Given the description of an element on the screen output the (x, y) to click on. 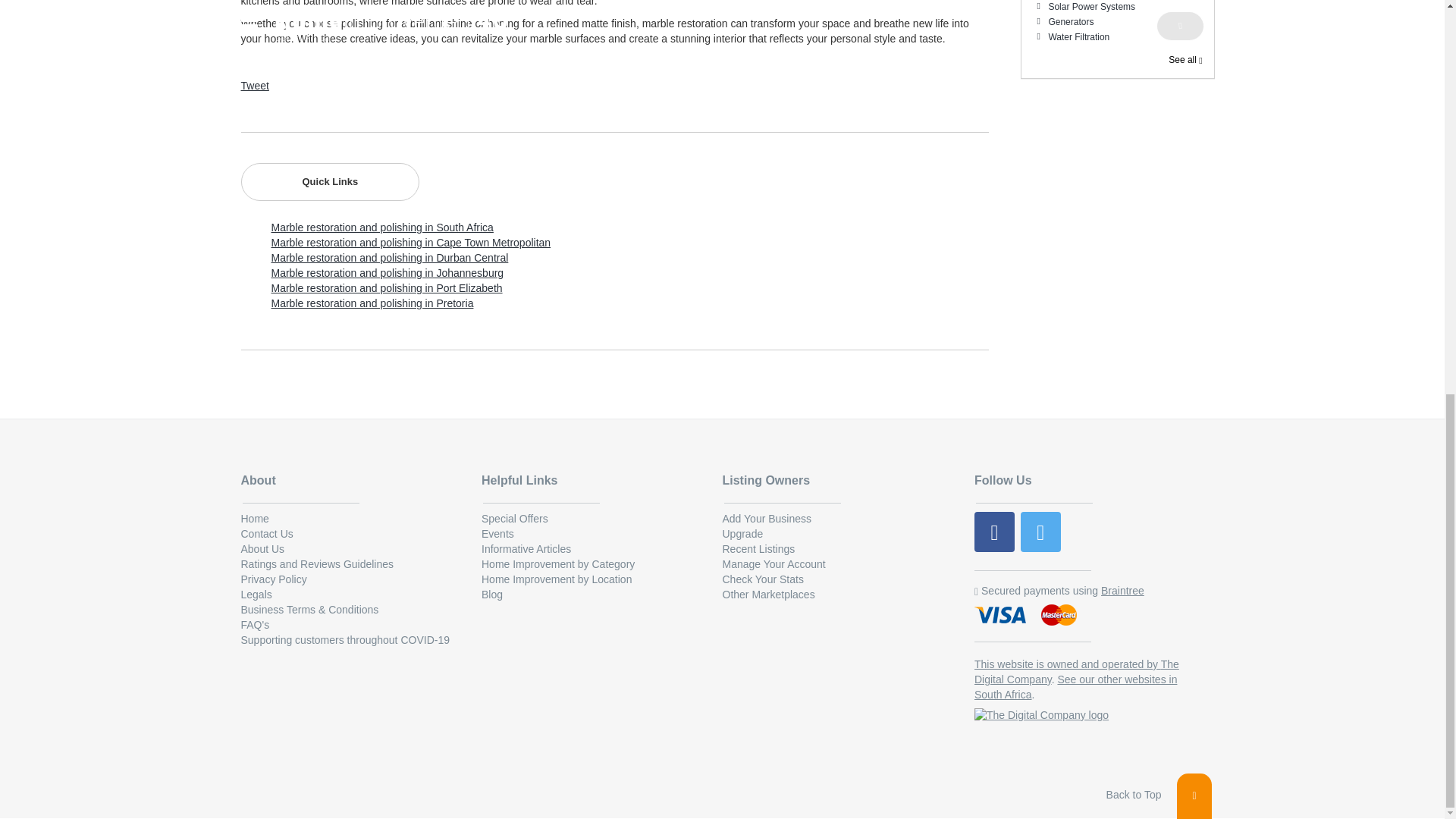
Marble restoration and polishing in Johannesburg (386, 272)
Marble restoration and polishing in Cape Town Metropolitan (410, 242)
Marble restoration and polishing in Port Elizabeth (386, 287)
Visa (1001, 615)
MasterCard (1059, 615)
Marble restoration and polishing in Pretoria (372, 303)
Marble restoration and polishing in Durban Central (389, 257)
Tweet (255, 85)
Marble restoration and polishing in South Africa (381, 227)
